Given the description of an element on the screen output the (x, y) to click on. 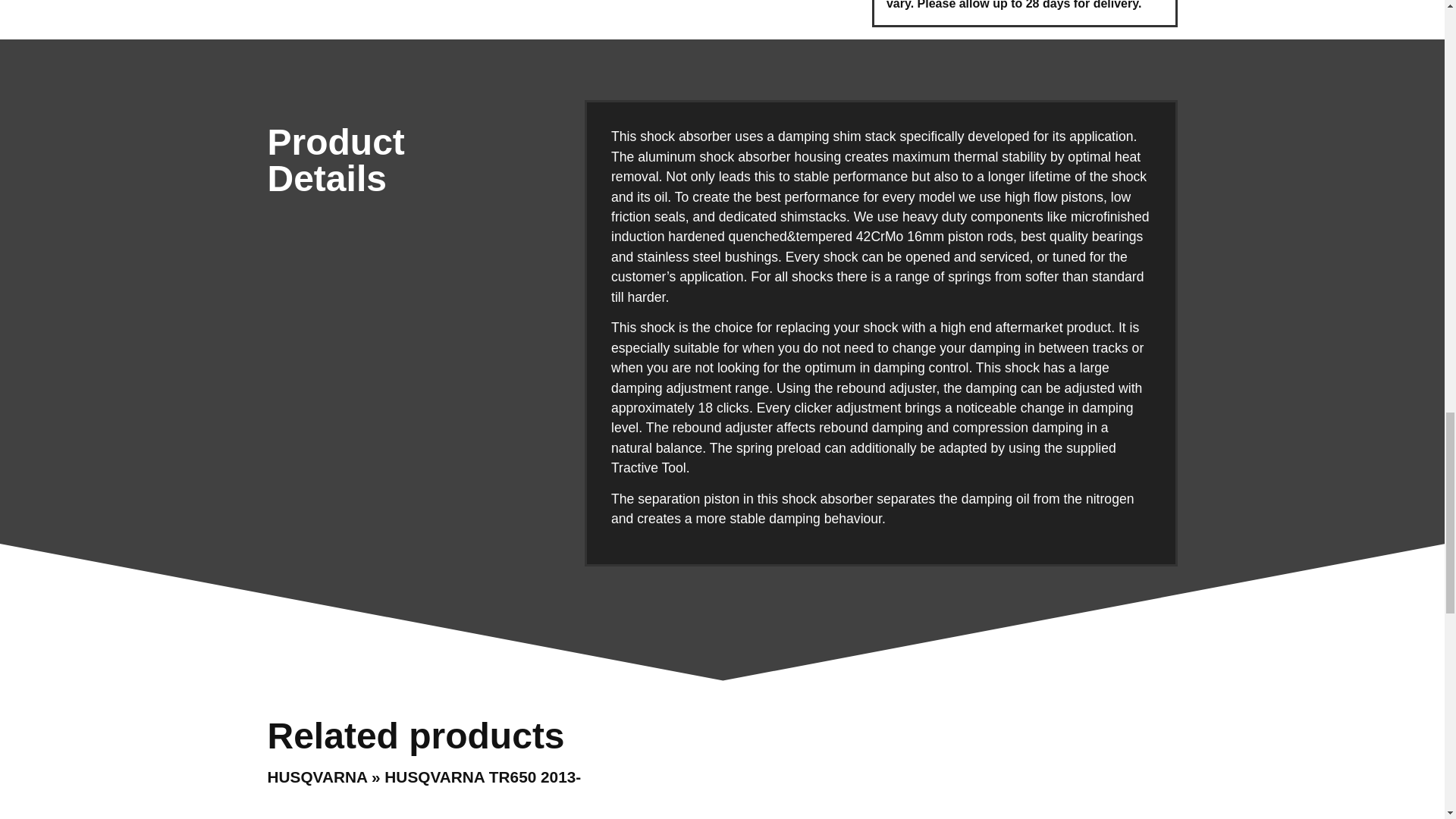
HUSQVARNA (316, 776)
HUSQVARNA TR650 2013- (482, 776)
